Given the description of an element on the screen output the (x, y) to click on. 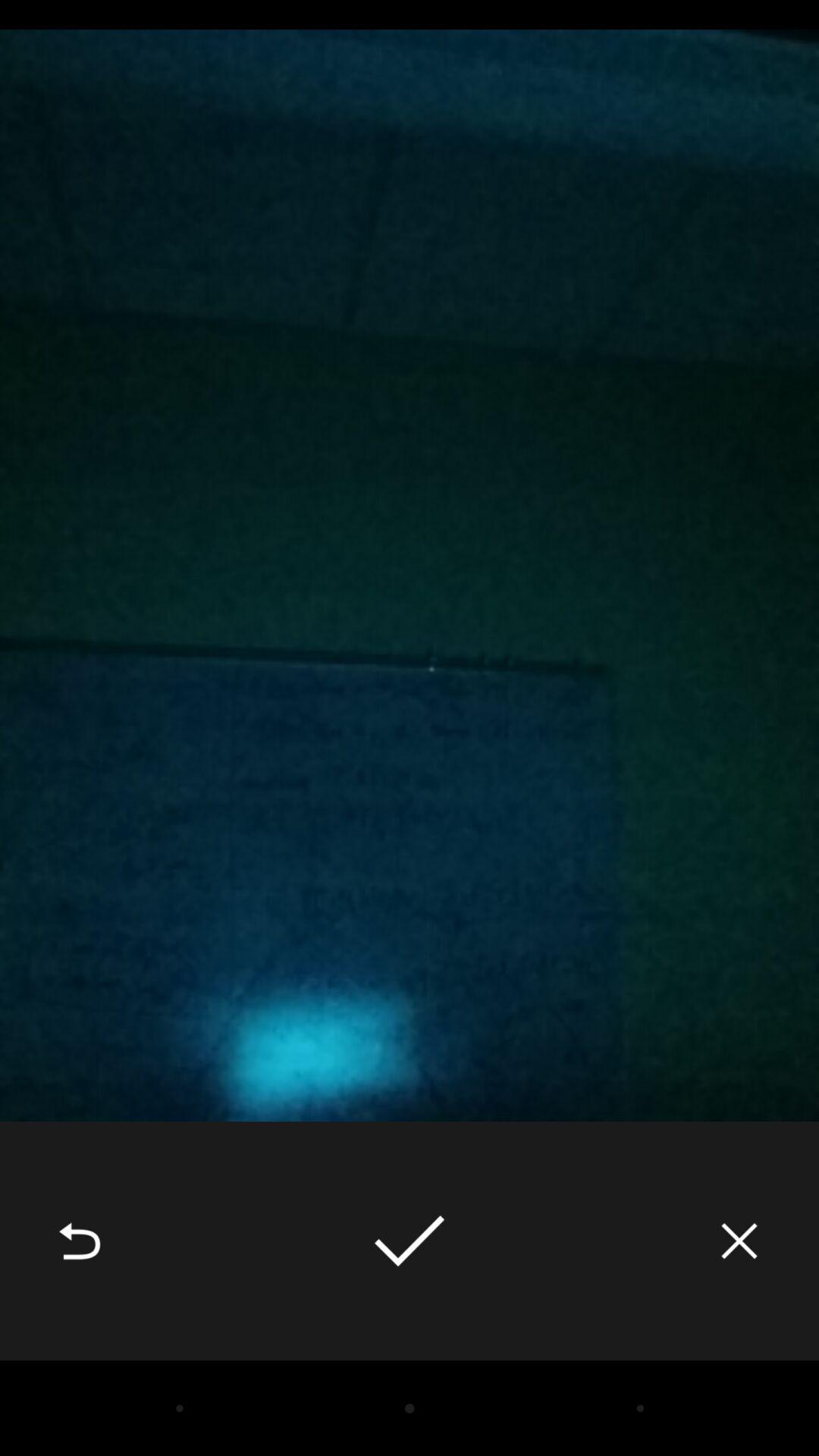
launch item at the bottom right corner (739, 1240)
